Given the description of an element on the screen output the (x, y) to click on. 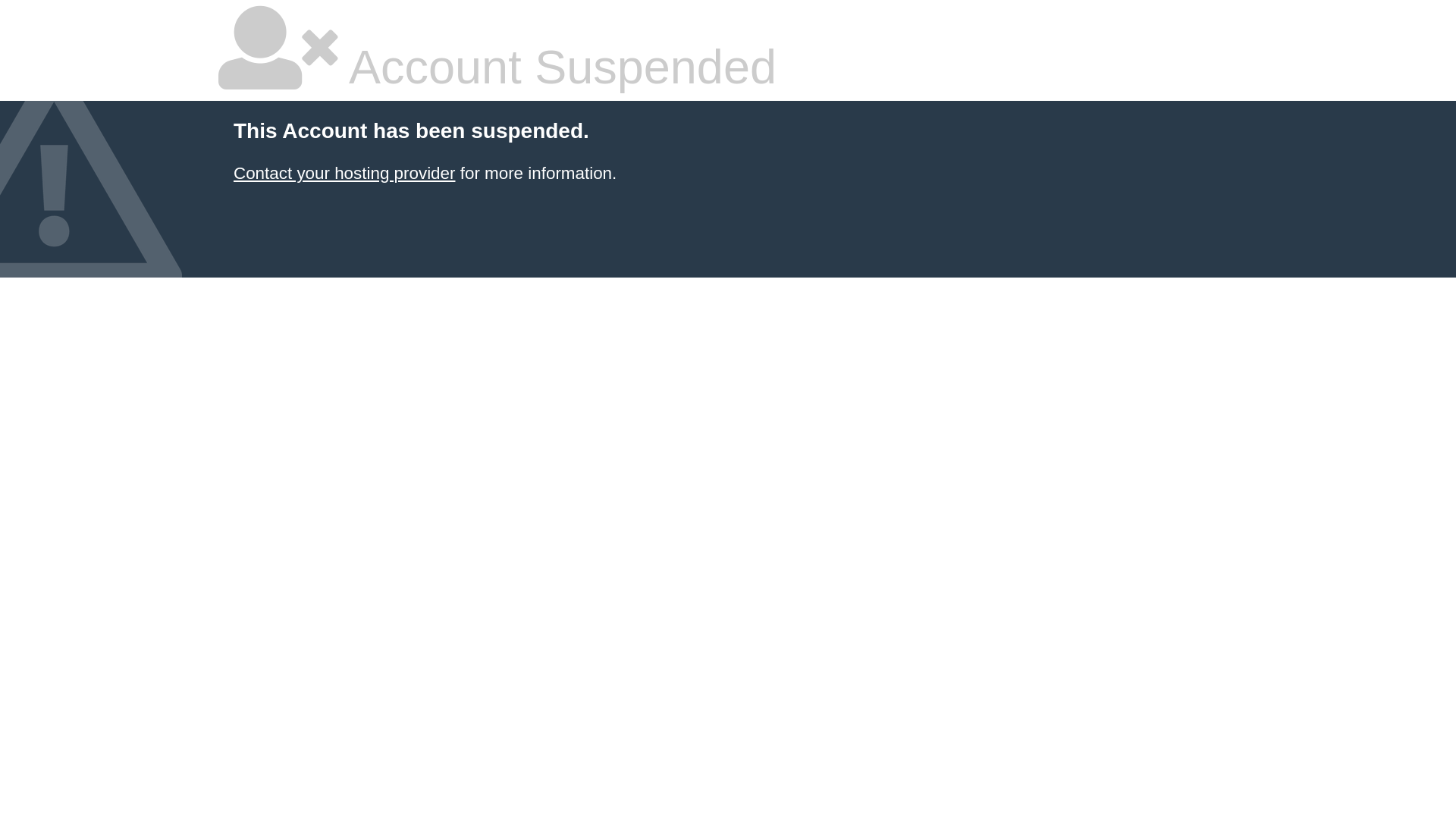
Contact your hosting provider Element type: text (344, 172)
